Given the description of an element on the screen output the (x, y) to click on. 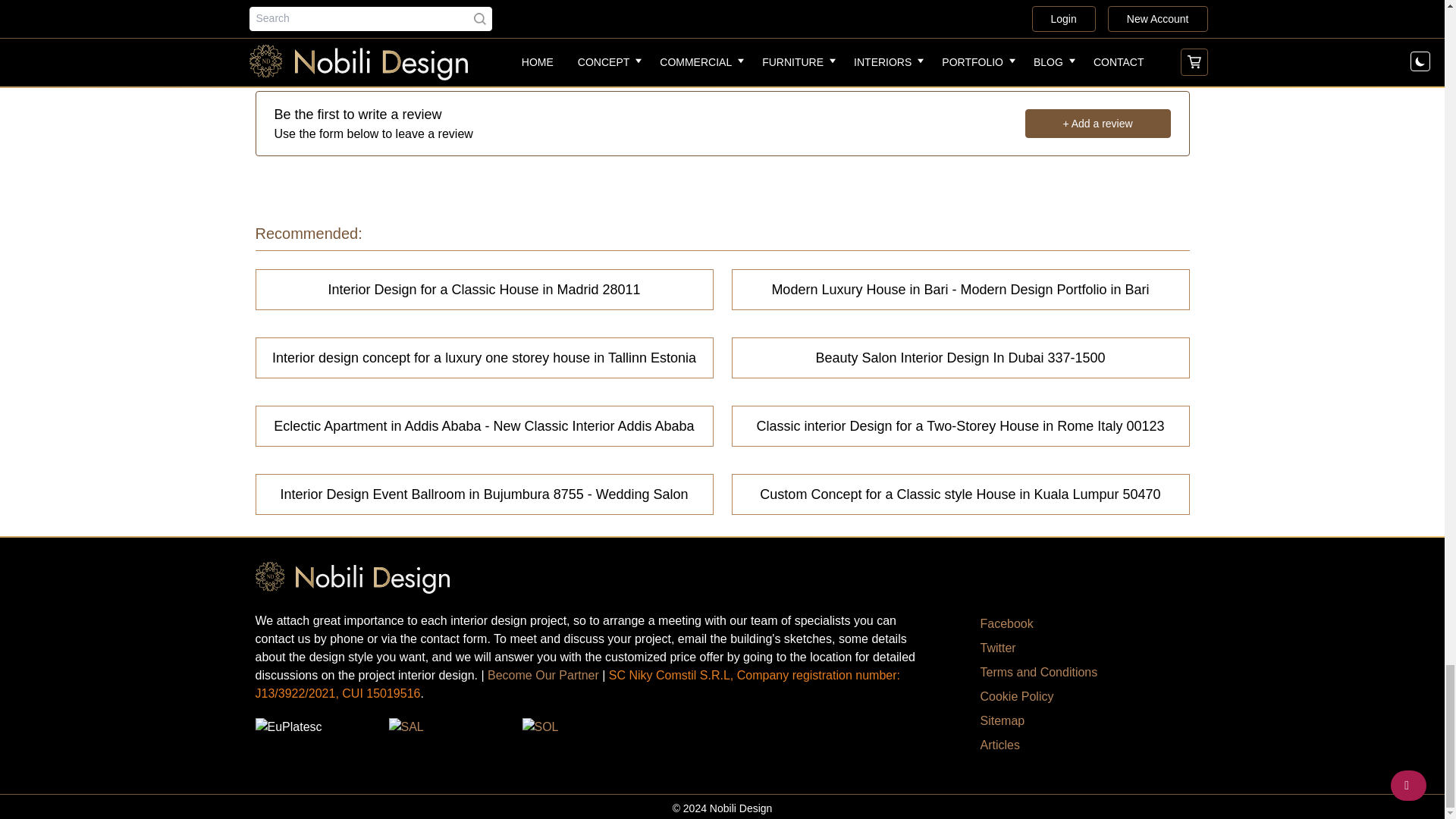
Reviews: (721, 39)
